Given the description of an element on the screen output the (x, y) to click on. 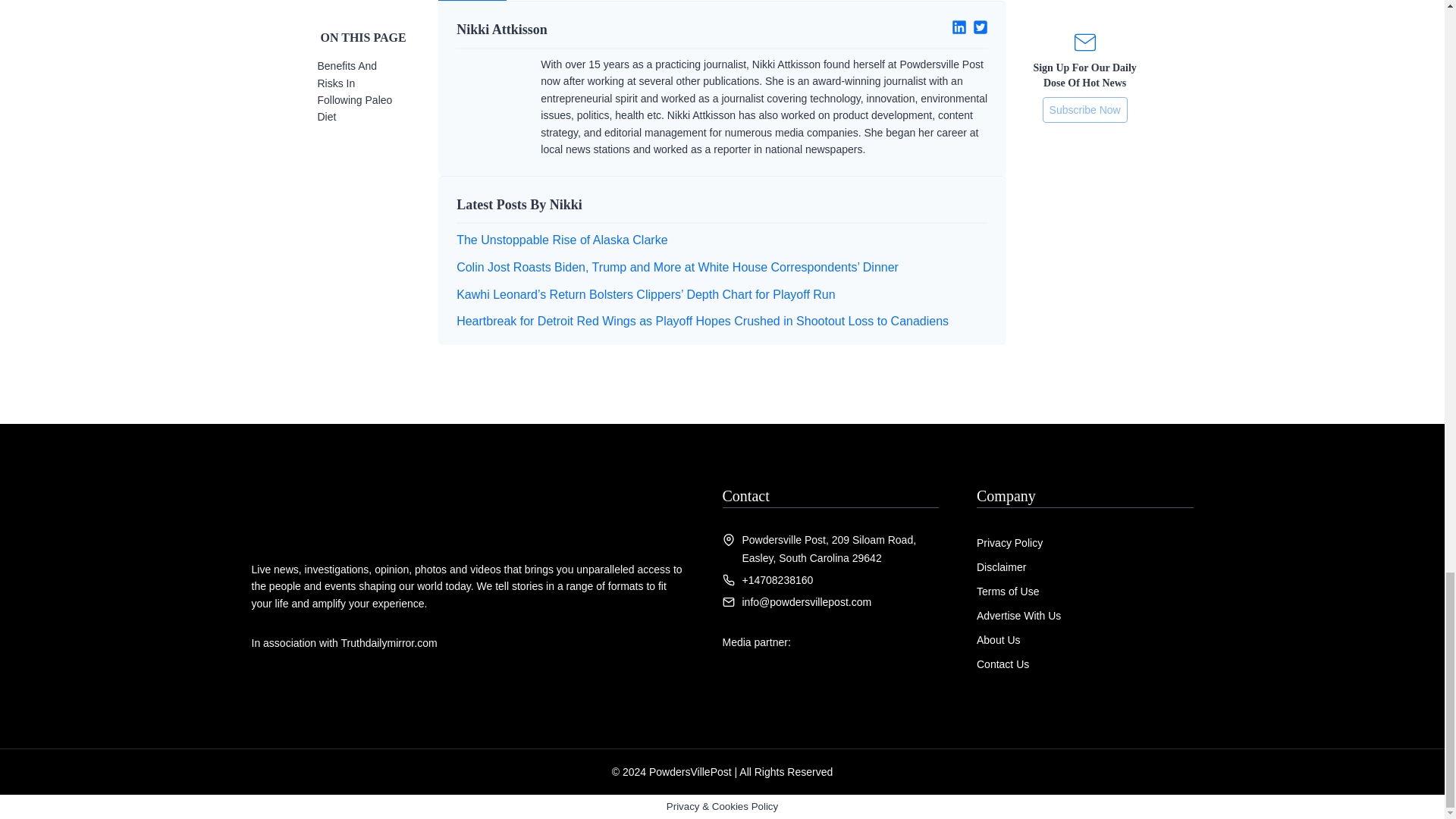
Privacy Policy (1009, 542)
Terms of Use (1007, 591)
Contact Us (1002, 664)
The Unstoppable Rise of Alaska Clarke (561, 239)
About Us (998, 639)
Nikki Attkisson (583, 29)
Disclaimer (1001, 567)
Advertise With Us (1018, 615)
